Given the description of an element on the screen output the (x, y) to click on. 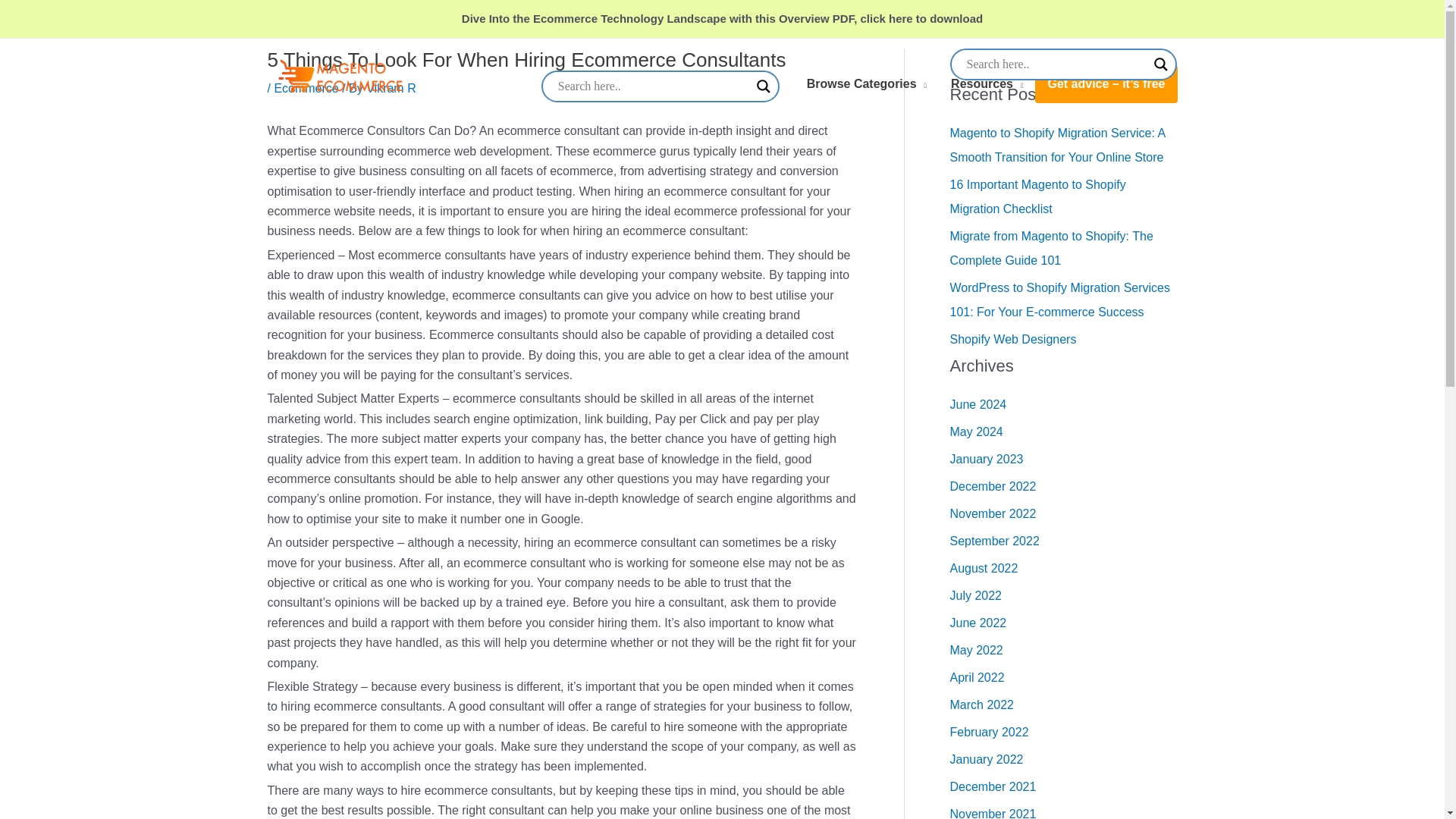
View all posts by Vikram R (391, 88)
May 2024 (976, 431)
January 2023 (986, 459)
Vikram R (391, 88)
Migrate from Magento to Shopify: The Complete Guide 101 (1051, 248)
Shopify Web Designers (1012, 338)
June 2024 (977, 404)
Resources (987, 84)
